Given the description of an element on the screen output the (x, y) to click on. 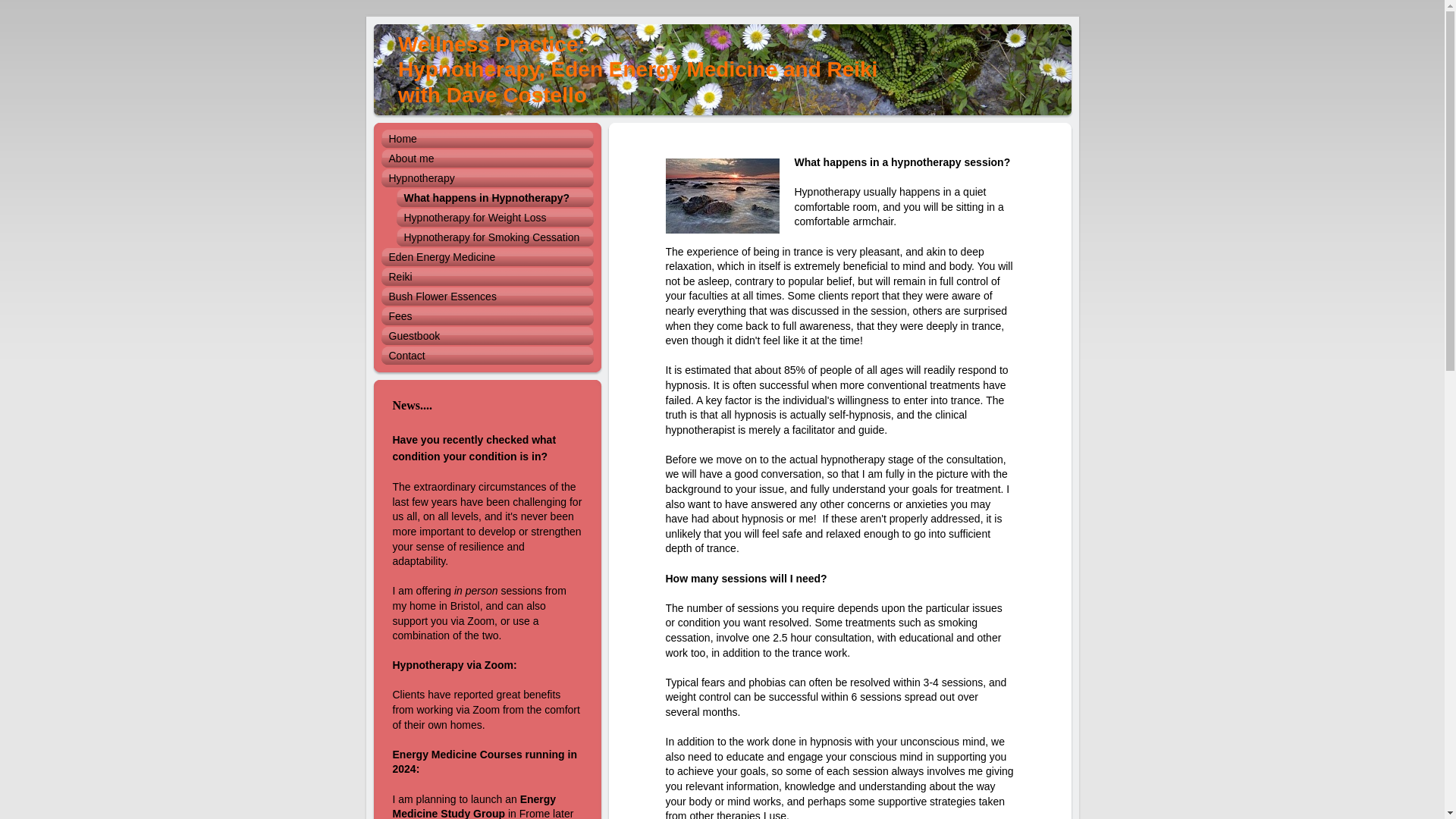
Reiki (486, 276)
Hypnotherapy for Weight Loss (486, 217)
Guestbook (486, 335)
Bush Flower Essences (486, 296)
Eden Energy Medicine (486, 256)
Contact (486, 355)
Hypnotherapy (486, 178)
Home (486, 138)
About me (486, 158)
What happens in Hypnotherapy? (486, 198)
Fees (486, 315)
Hypnotherapy for Smoking Cessation (486, 237)
